Given the description of an element on the screen output the (x, y) to click on. 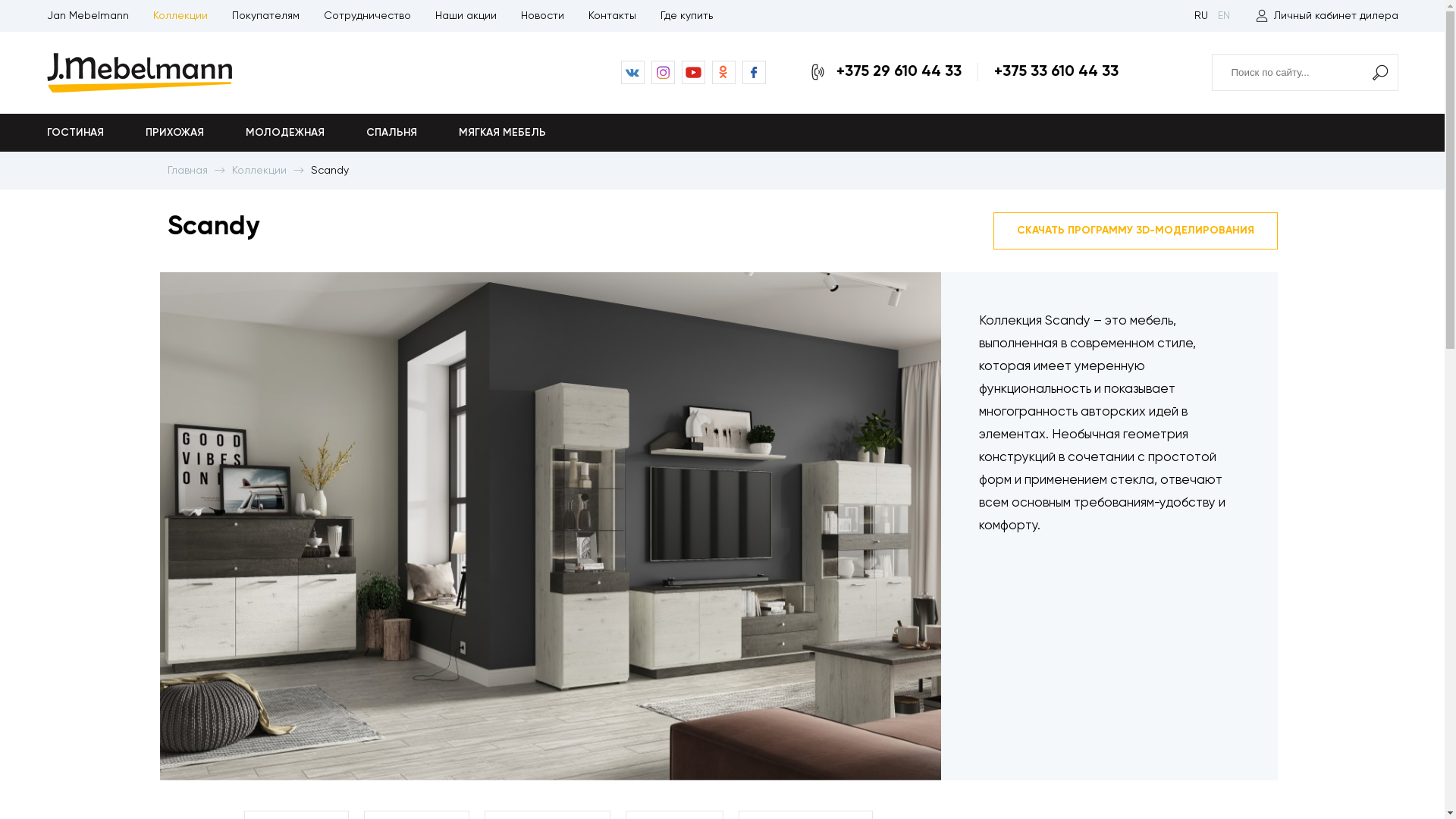
EN Element type: text (1223, 15)
RU Element type: text (1200, 15)
+375 29 610 44 33 Element type: text (897, 71)
+375 33 610 44 33 Element type: text (1055, 71)
Jan Mebelmann Element type: text (87, 15)
